Given the description of an element on the screen output the (x, y) to click on. 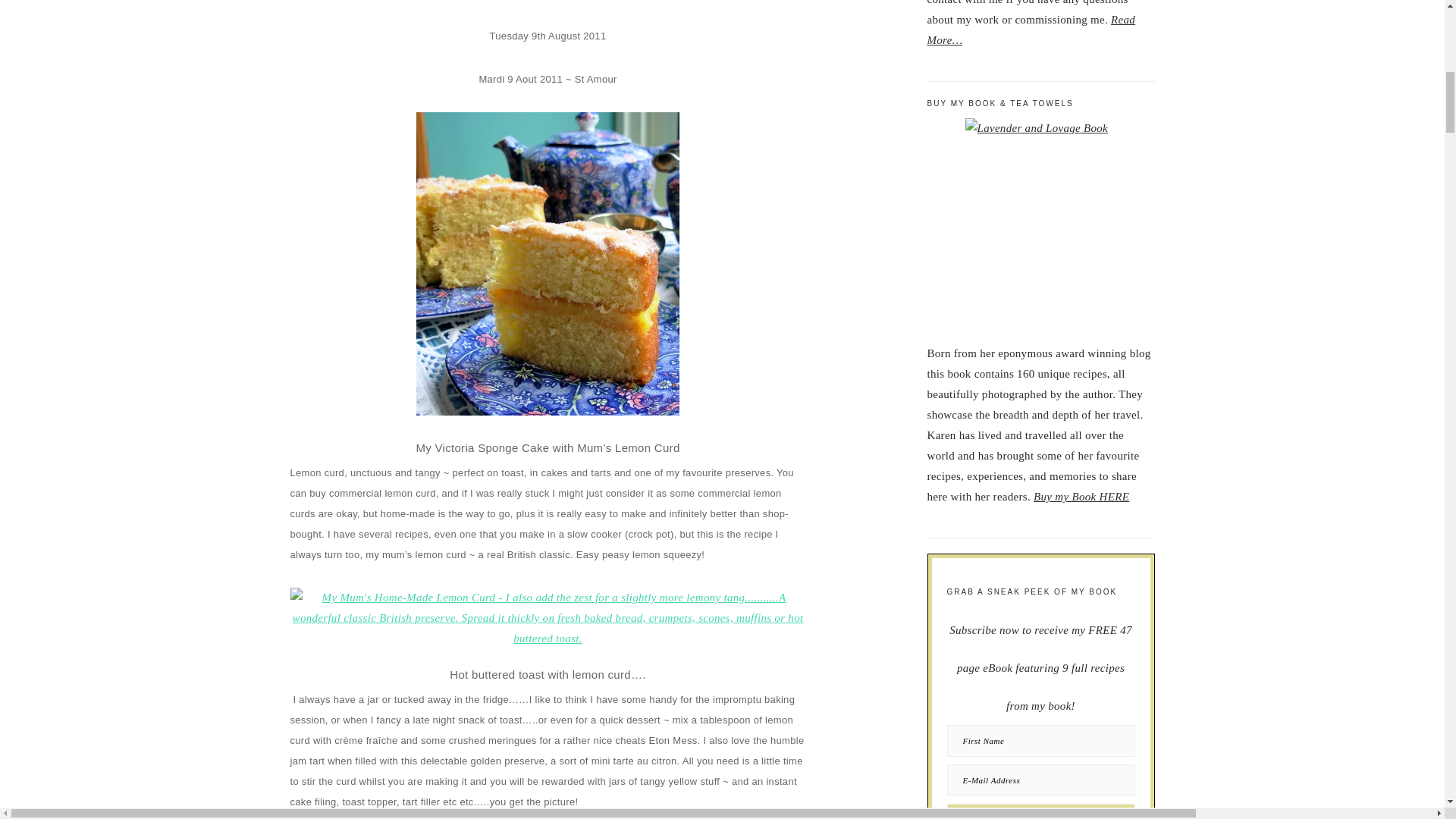
Subscribe Now (1040, 811)
